Given the description of an element on the screen output the (x, y) to click on. 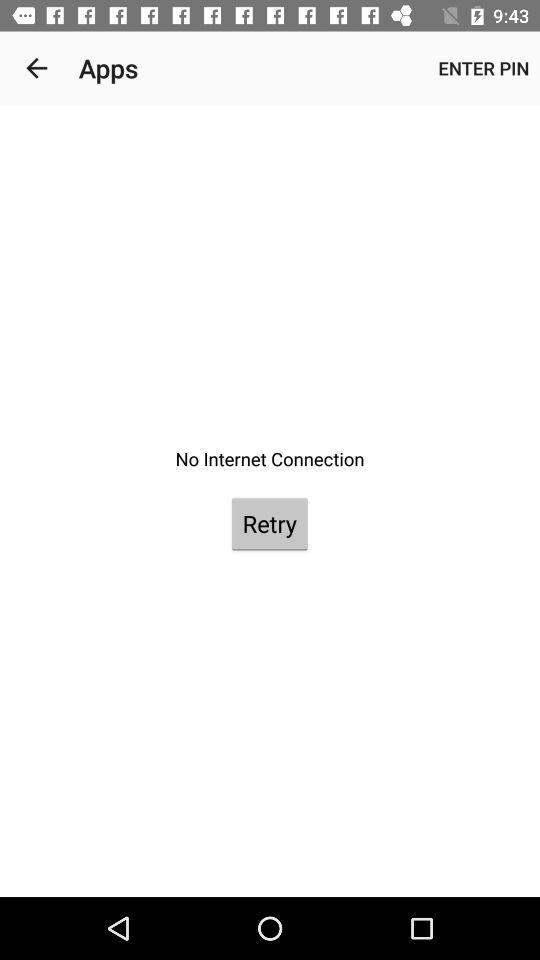
choose enter pin at the top right corner (483, 67)
